Given the description of an element on the screen output the (x, y) to click on. 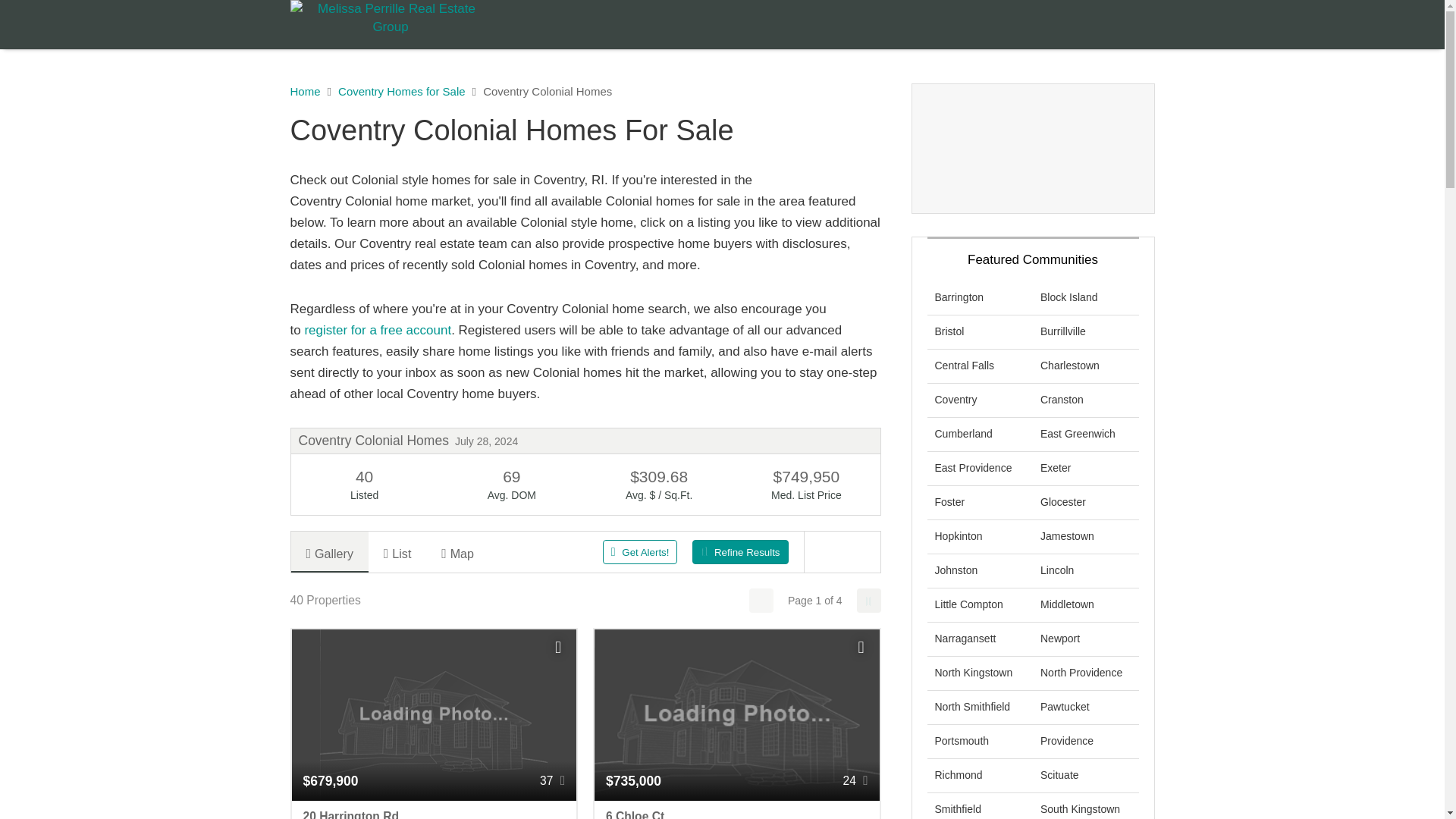
20 Harrington Rd Coventry,  RI 02816 (433, 809)
6 Chloe Ct Coventry,  RI 02816 (736, 809)
